Given the description of an element on the screen output the (x, y) to click on. 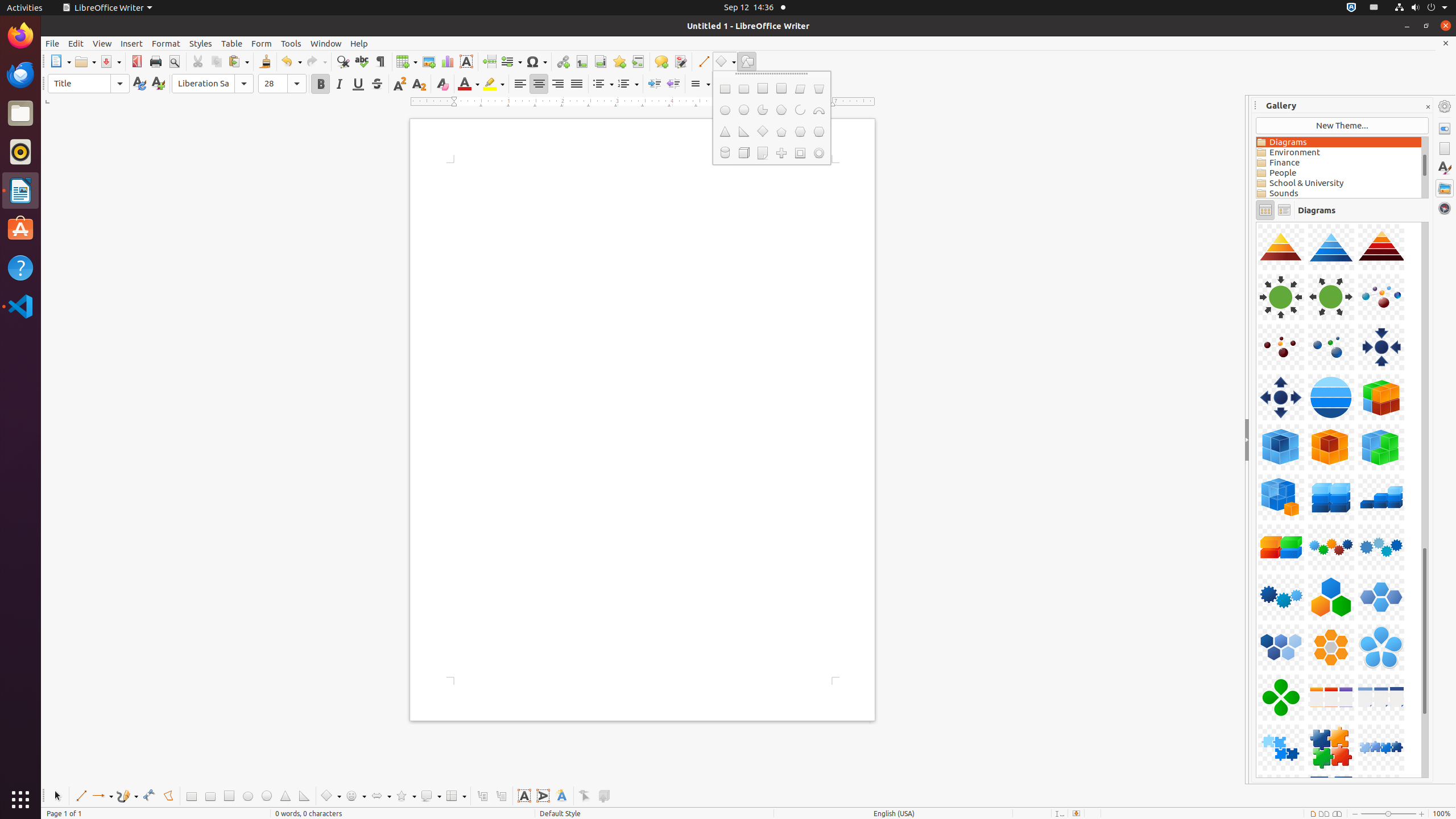
Copy Element type: push-button (216, 61)
Component-Sphere05-Orange Element type: list-item (1256, 222)
Line Spacing Element type: push-button (699, 83)
Component-Sphere01-DarkBlue Element type: list-item (1256, 222)
Footnote Element type: push-button (581, 61)
